Given the description of an element on the screen output the (x, y) to click on. 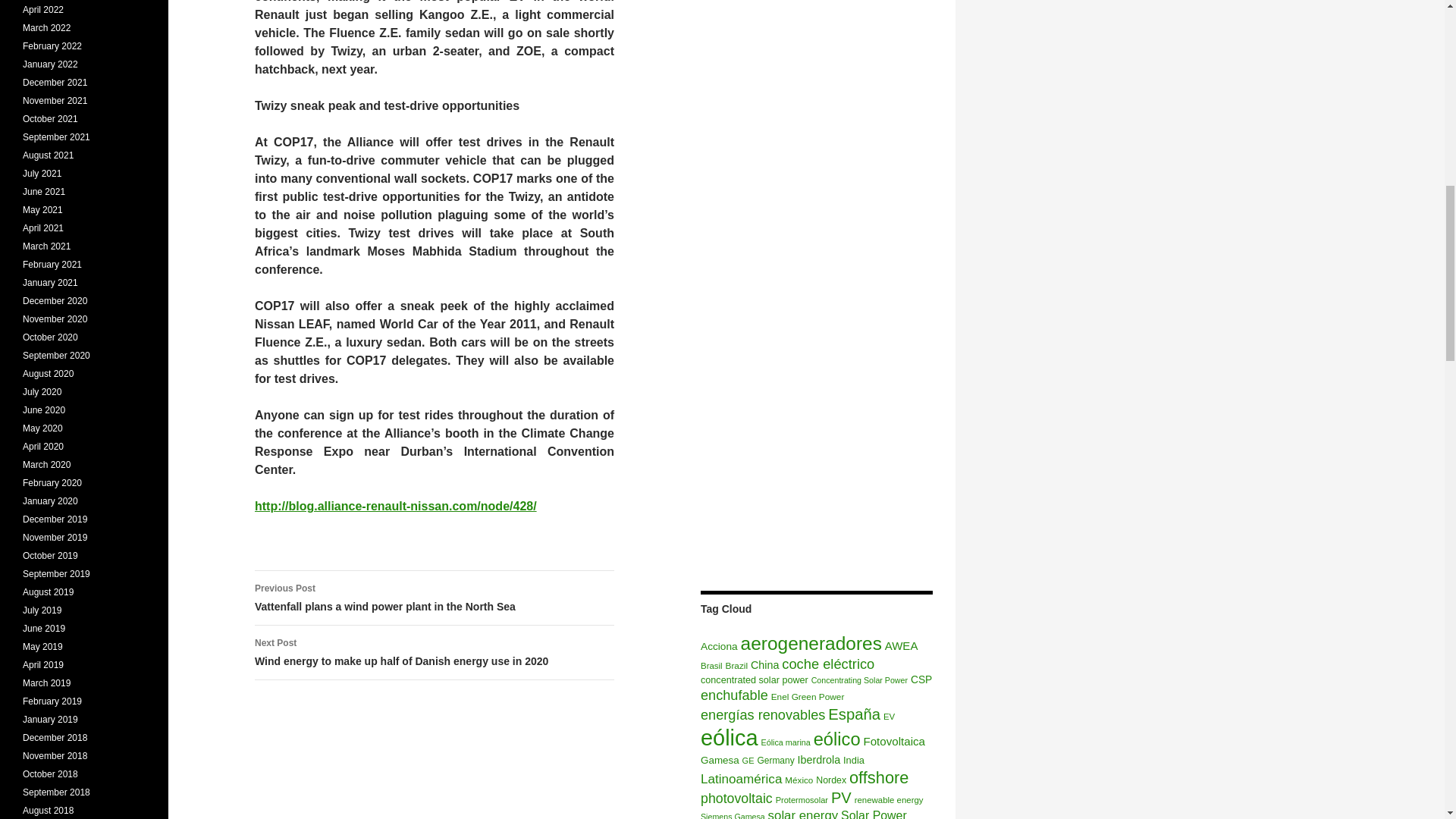
China (764, 664)
Brazil (736, 665)
Concentrating Solar Power (858, 679)
concentrated solar power (754, 679)
Acciona (719, 645)
CSP (921, 679)
AWEA (901, 645)
aerogeneradores (811, 643)
